Given the description of an element on the screen output the (x, y) to click on. 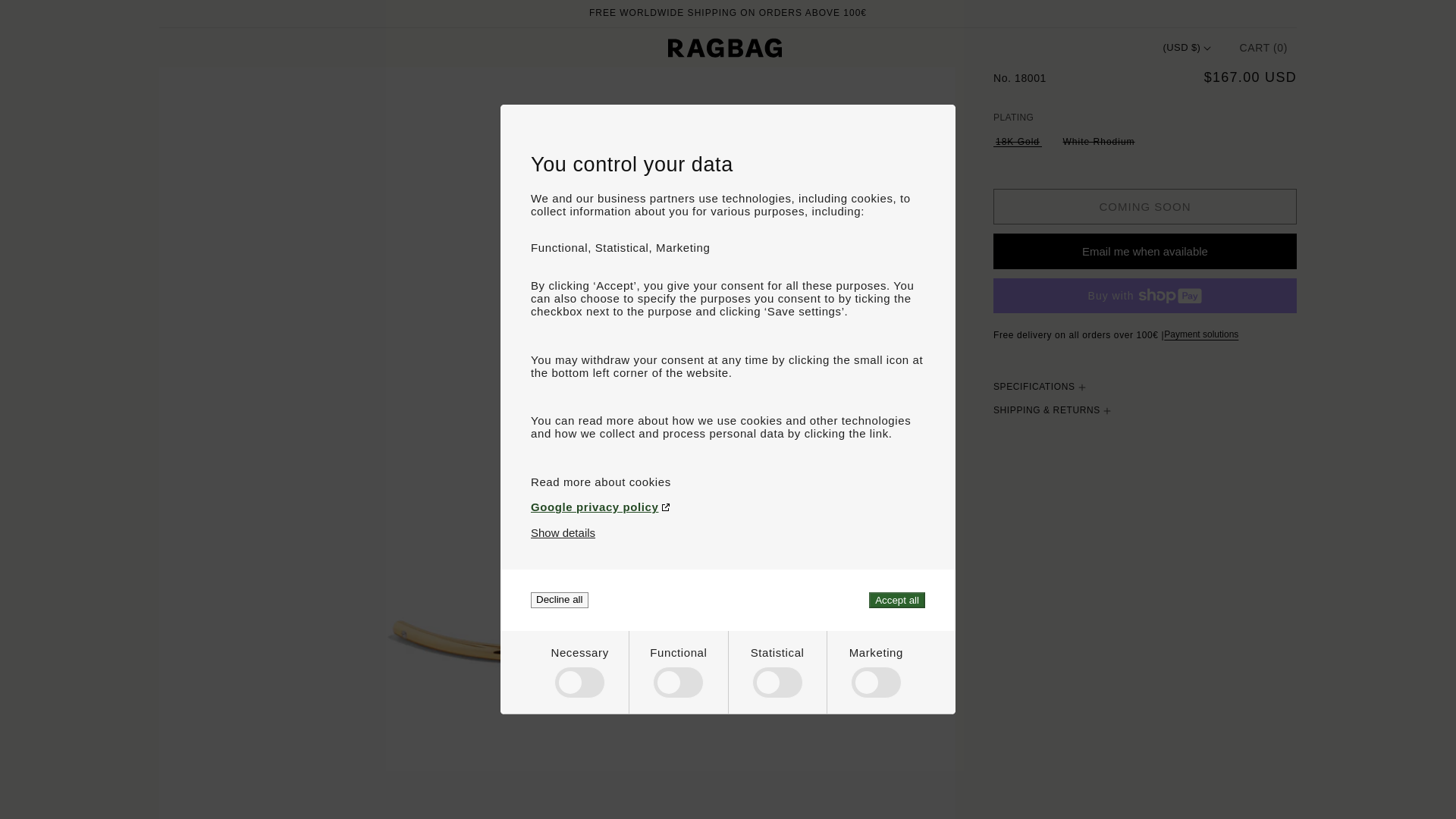
Show details (563, 532)
Google privacy policy (727, 506)
Read more about cookies (727, 481)
